Given the description of an element on the screen output the (x, y) to click on. 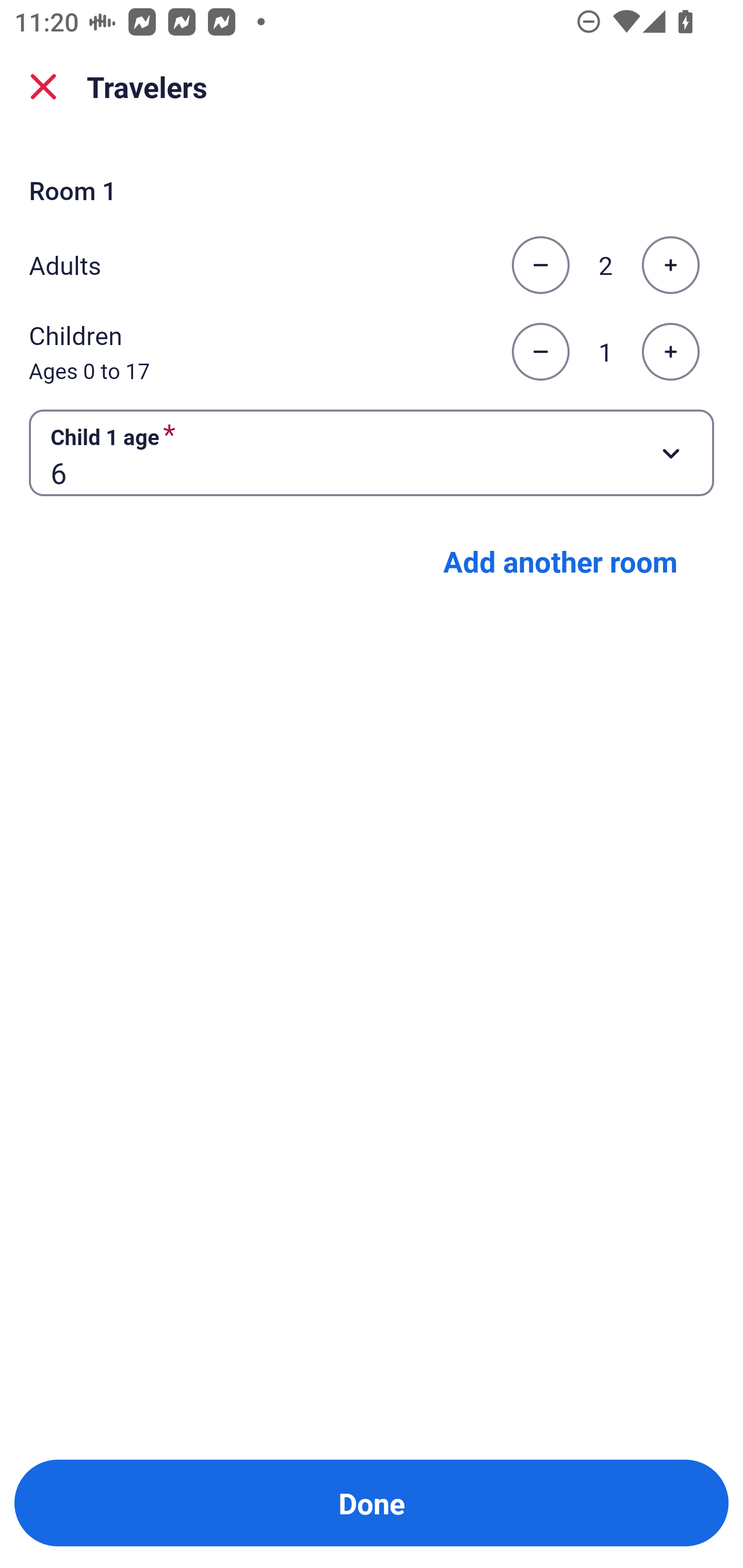
close (43, 86)
Decrease the number of adults (540, 264)
Increase the number of adults (670, 264)
Decrease the number of children (540, 351)
Increase the number of children (670, 351)
Child 1 age required Button 6 (371, 452)
Add another room (560, 561)
Done (371, 1502)
